Given the description of an element on the screen output the (x, y) to click on. 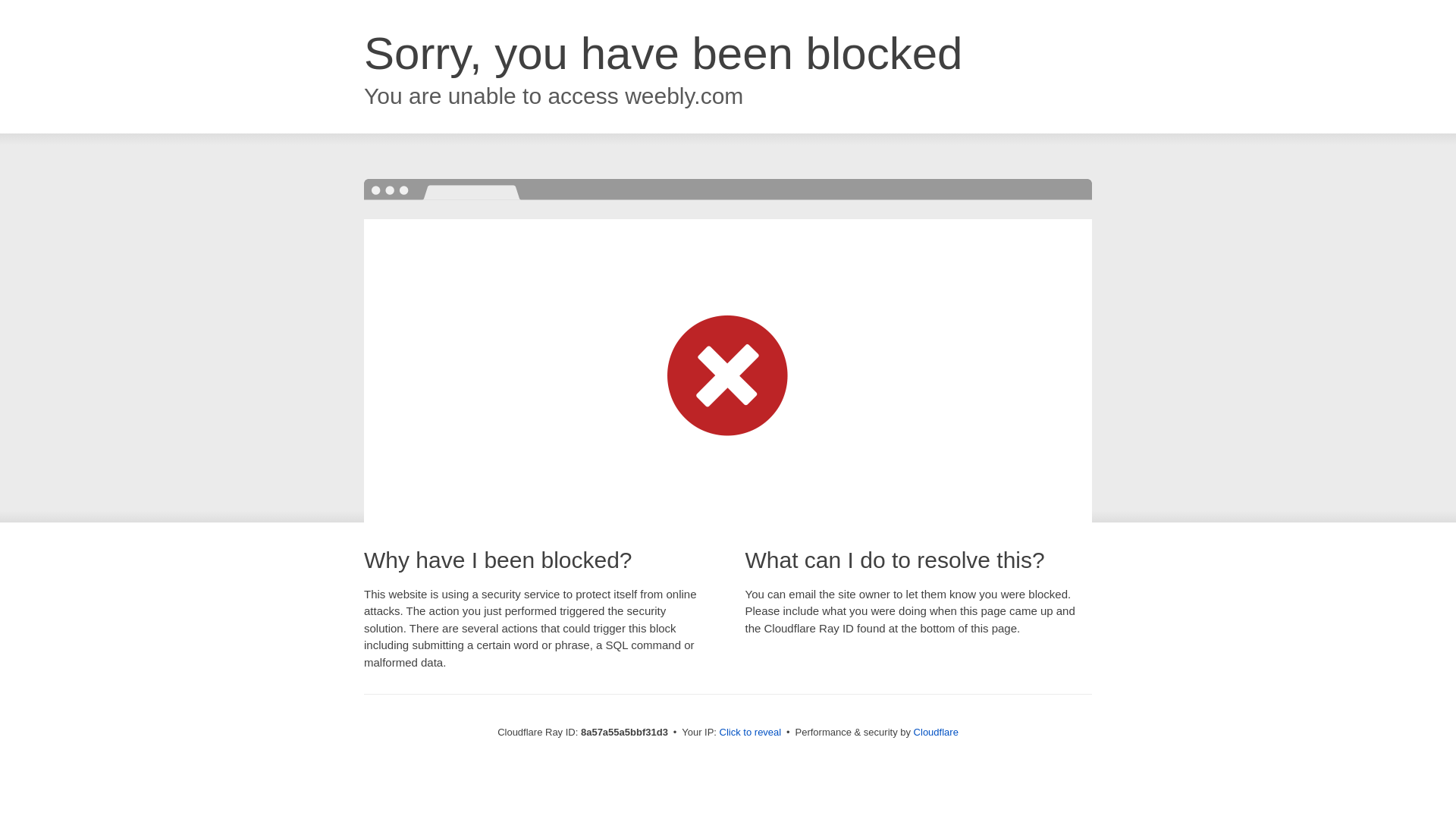
Click to reveal (750, 732)
Cloudflare (936, 731)
